Given the description of an element on the screen output the (x, y) to click on. 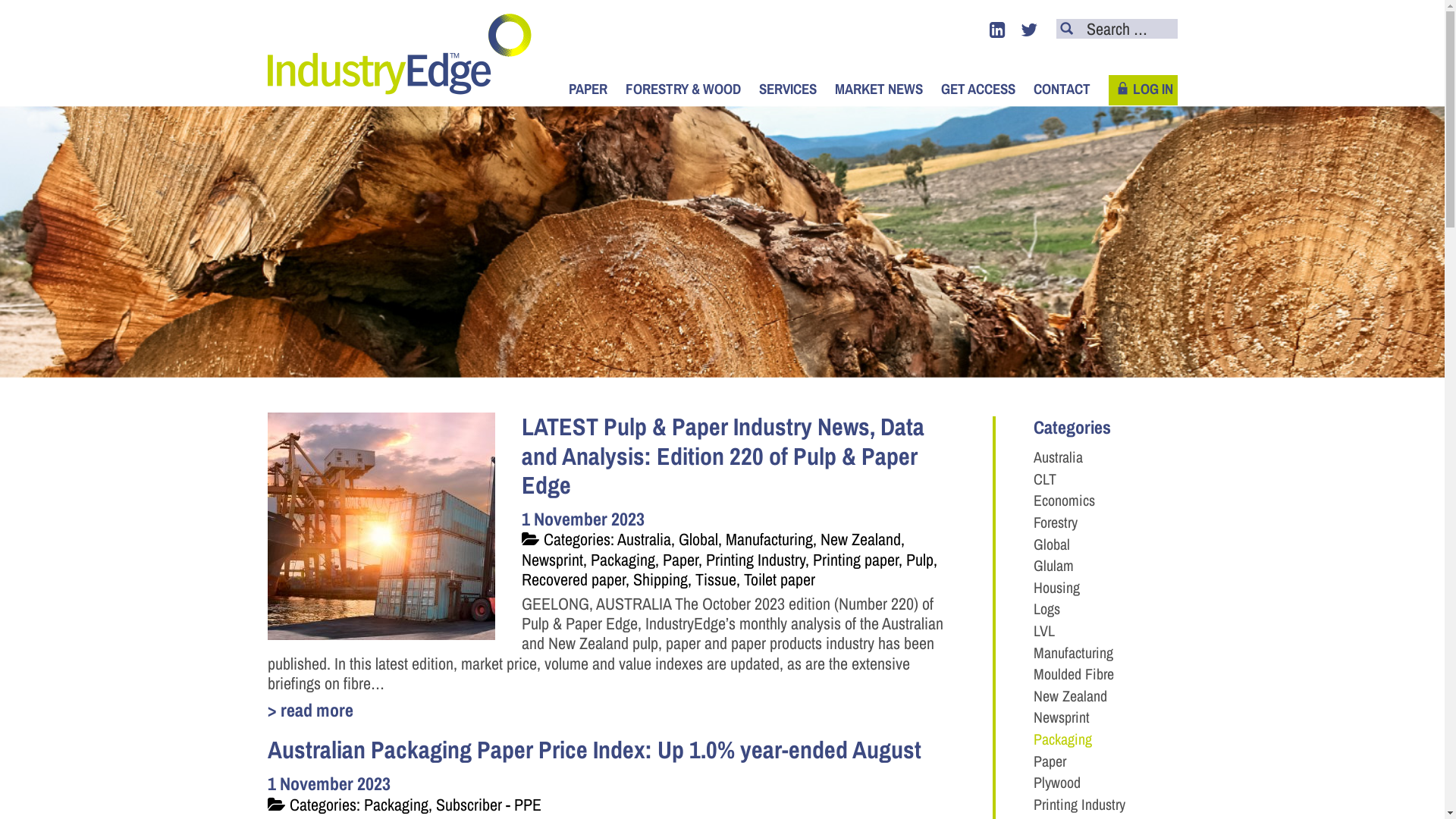
Search for: Element type: hover (1115, 28)
Forestry Element type: text (1054, 521)
Printing Industry Element type: text (1078, 803)
New Zealand Element type: text (1069, 695)
LVL Element type: text (1043, 630)
Australia Element type: text (1057, 456)
CLT Element type: text (1043, 478)
Paper Element type: text (1048, 760)
Global Element type: text (1050, 543)
Glulam Element type: text (1052, 565)
Logs Element type: text (1045, 608)
GET ACCESS Element type: text (977, 88)
Newsprint Element type: text (1060, 716)
Housing Element type: text (1055, 587)
Search Element type: text (1066, 27)
MARKET NEWS Element type: text (878, 88)
Moulded Fibre Element type: text (1072, 673)
Packaging Element type: text (1061, 738)
CONTACT Element type: text (1060, 88)
Plywood Element type: text (1055, 781)
Economics Element type: text (1063, 499)
Manufacturing Element type: text (1072, 652)
LOG IN Element type: text (1142, 90)
read more Element type: text (609, 710)
